Given the description of an element on the screen output the (x, y) to click on. 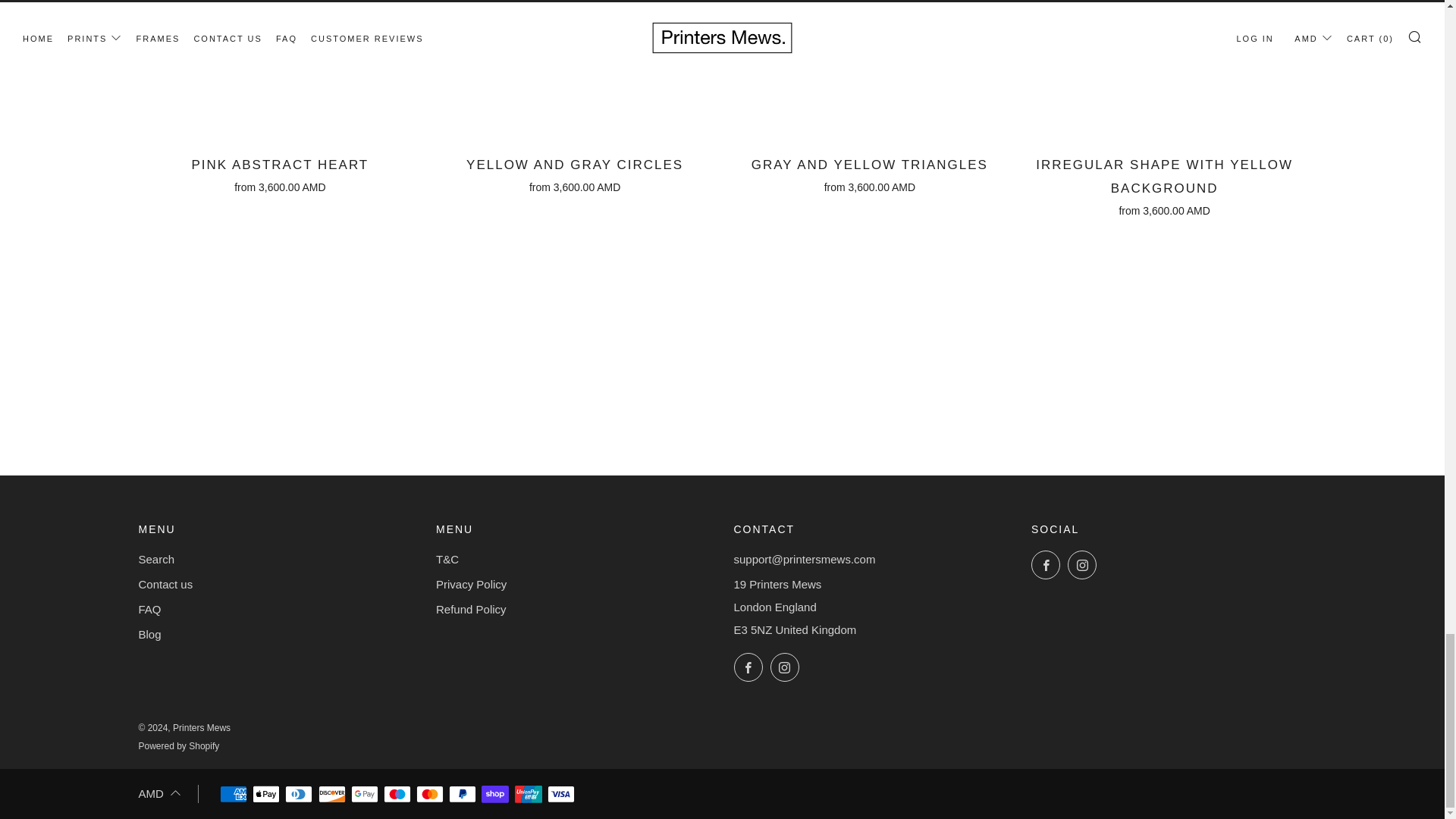
Pink Abstract Heart (280, 172)
Yellow and Gray Circles (574, 172)
Irregular Shape With Yellow Background (1164, 184)
Gray and Yellow Triangles (869, 172)
